Given the description of an element on the screen output the (x, y) to click on. 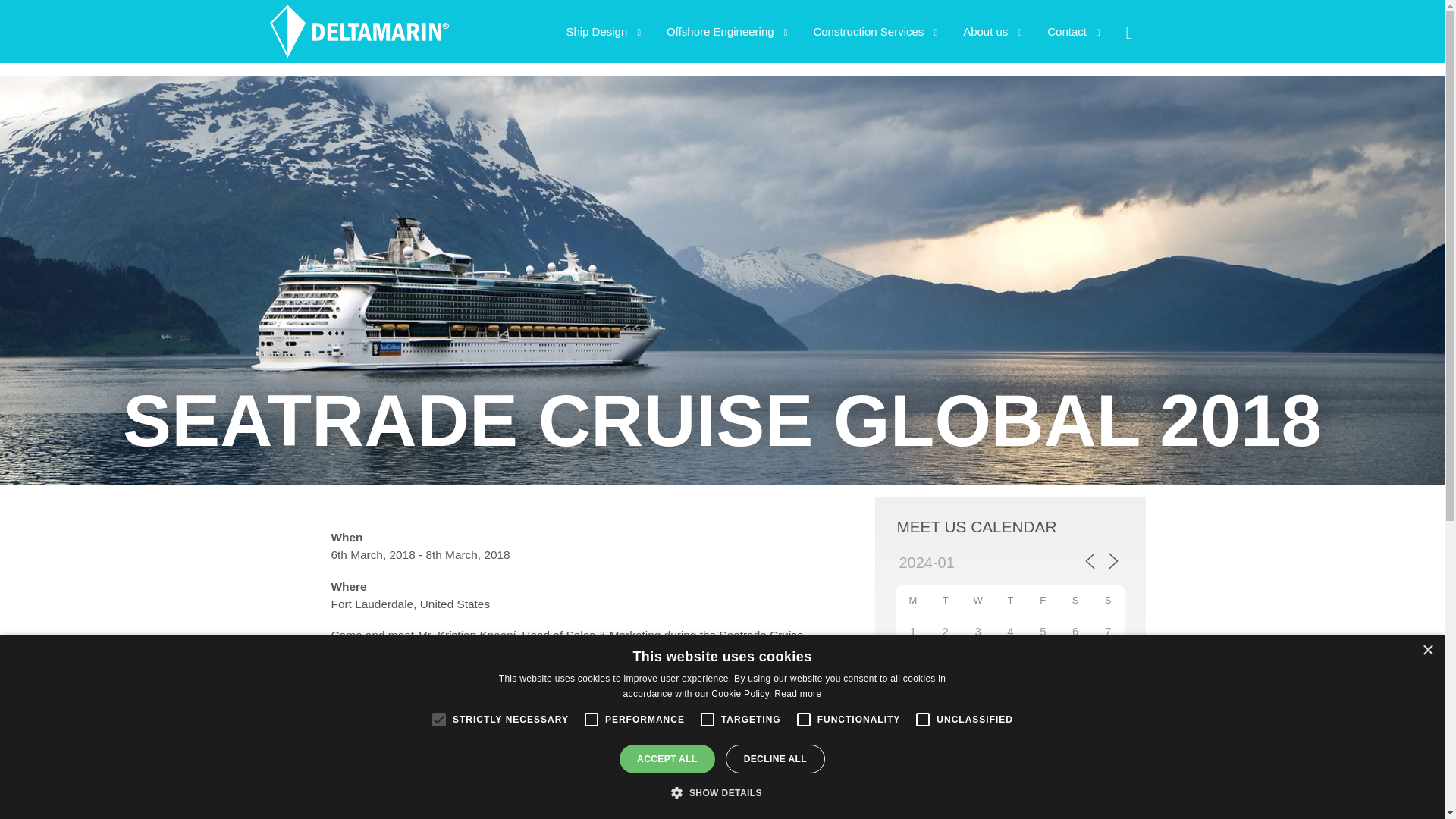
Offshore Engineering (726, 31)
Construction Services (874, 31)
2024-01 (963, 563)
Ship Design (603, 31)
About us (991, 31)
Deltamarin Ltd (357, 51)
